Given the description of an element on the screen output the (x, y) to click on. 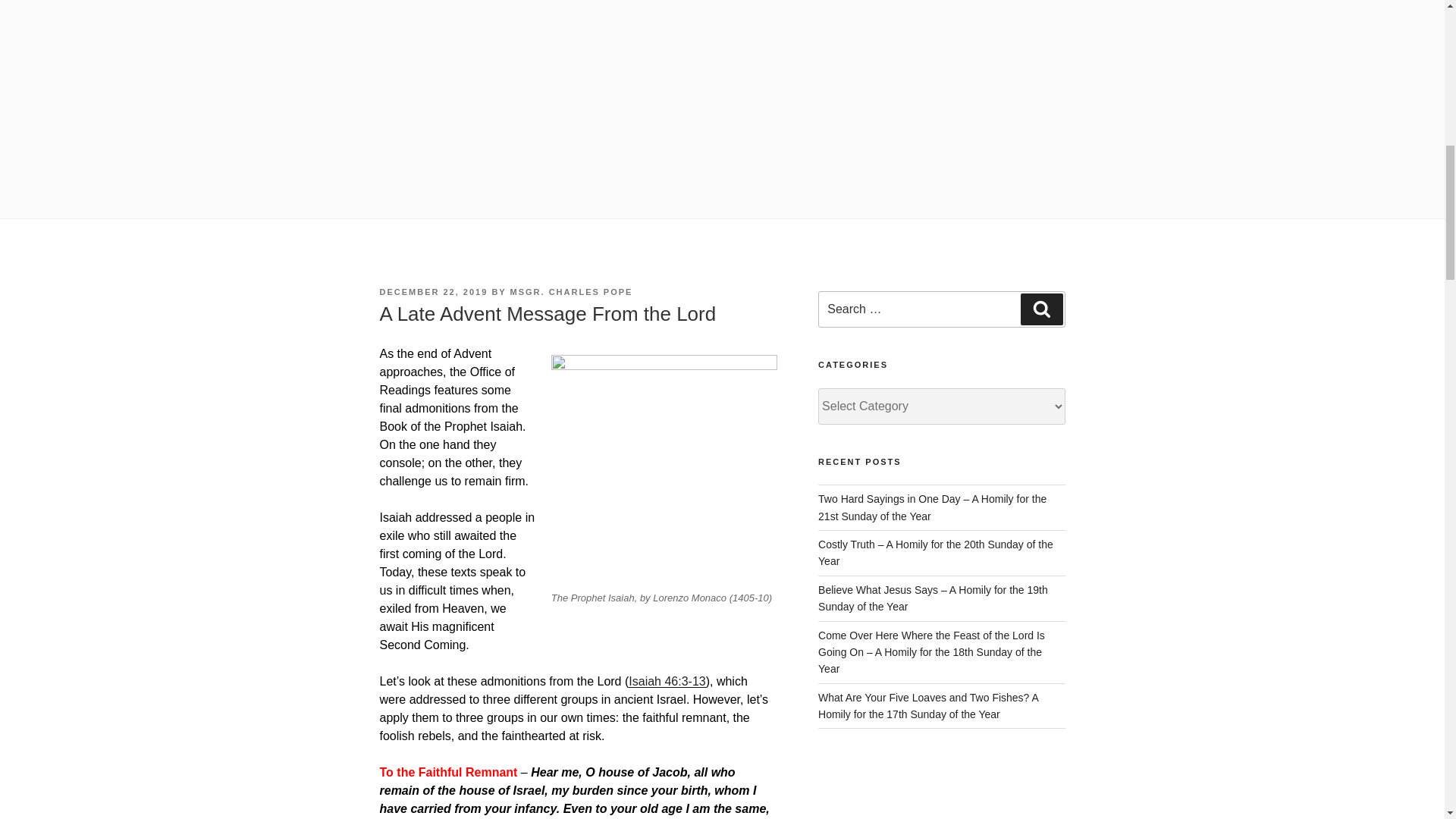
Isaiah 46:3-13 (666, 680)
Search (1041, 309)
DECEMBER 22, 2019 (432, 291)
MSGR. CHARLES POPE (572, 291)
